Given the description of an element on the screen output the (x, y) to click on. 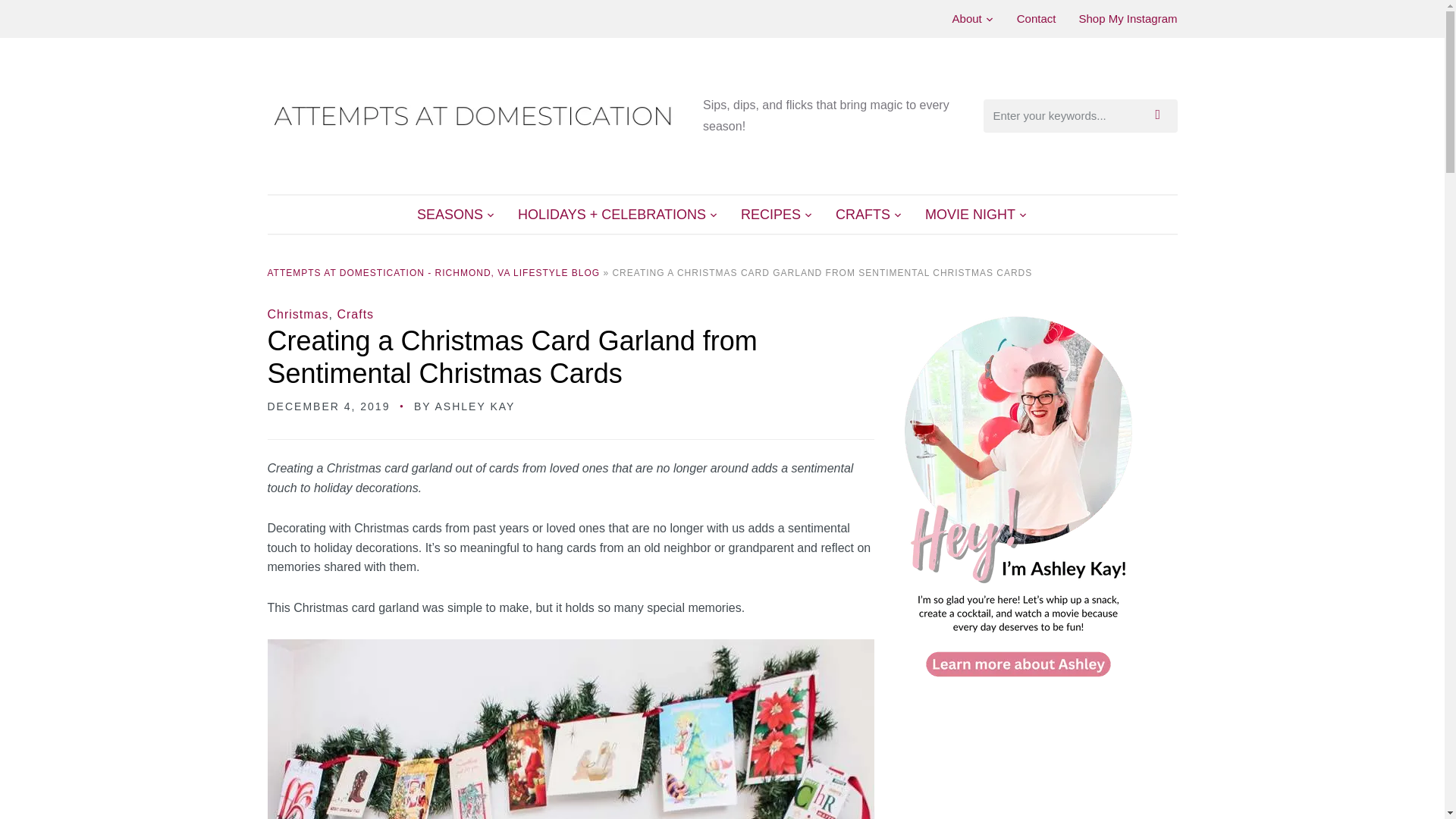
Shop My Instagram (1127, 18)
Search (1161, 115)
Search (1161, 115)
Search (1161, 115)
About (973, 18)
Contact (1036, 18)
Posts by Ashley Kay (475, 406)
